Given the description of an element on the screen output the (x, y) to click on. 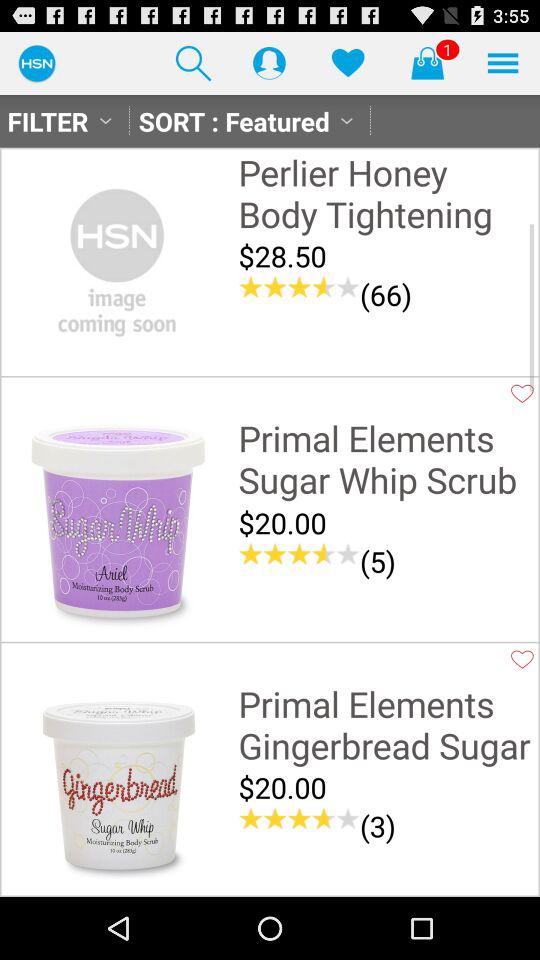
profile button (269, 62)
